Given the description of an element on the screen output the (x, y) to click on. 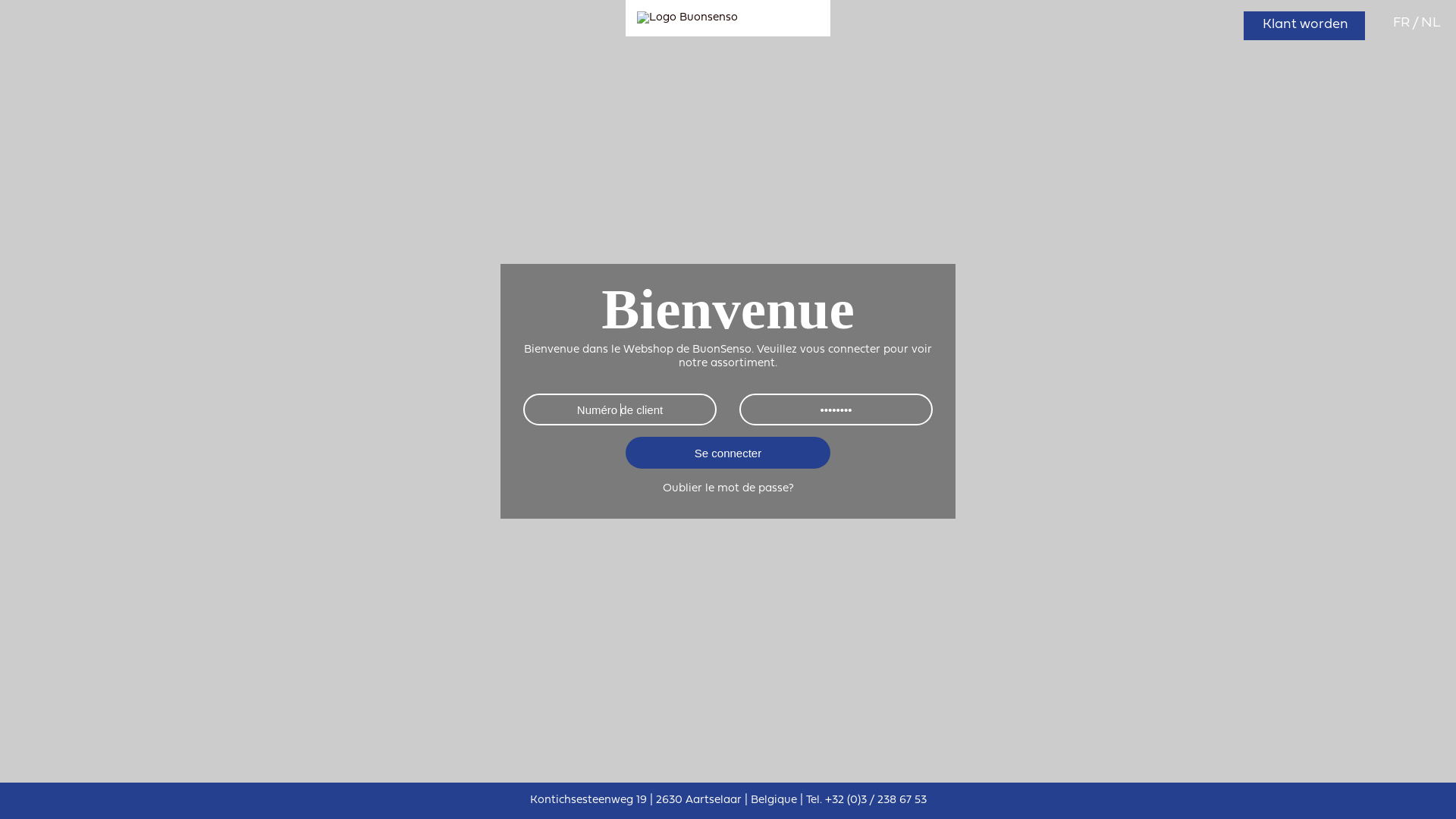
Klant worden Element type: text (1304, 25)
Oublier le mot de passe? Element type: text (727, 488)
NL Element type: text (1430, 22)
Se connecter Element type: text (727, 452)
FR Element type: text (1402, 22)
